Given the description of an element on the screen output the (x, y) to click on. 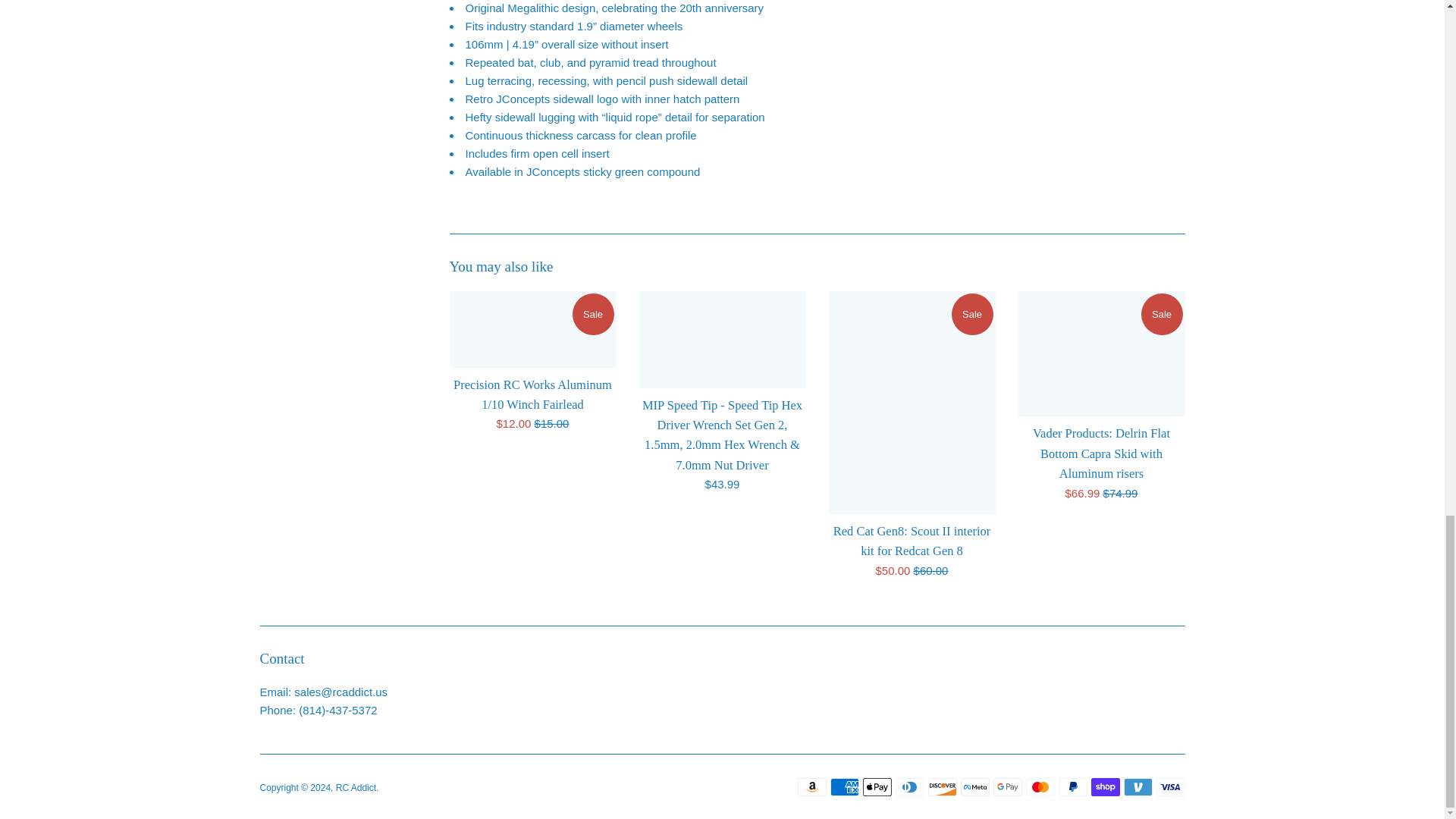
Shop Pay (1104, 787)
Meta Pay (973, 787)
Discover (942, 787)
Diners Club (909, 787)
Apple Pay (877, 787)
Mastercard (1039, 787)
Venmo (1138, 787)
Amazon (812, 787)
PayPal (1072, 787)
